Given the description of an element on the screen output the (x, y) to click on. 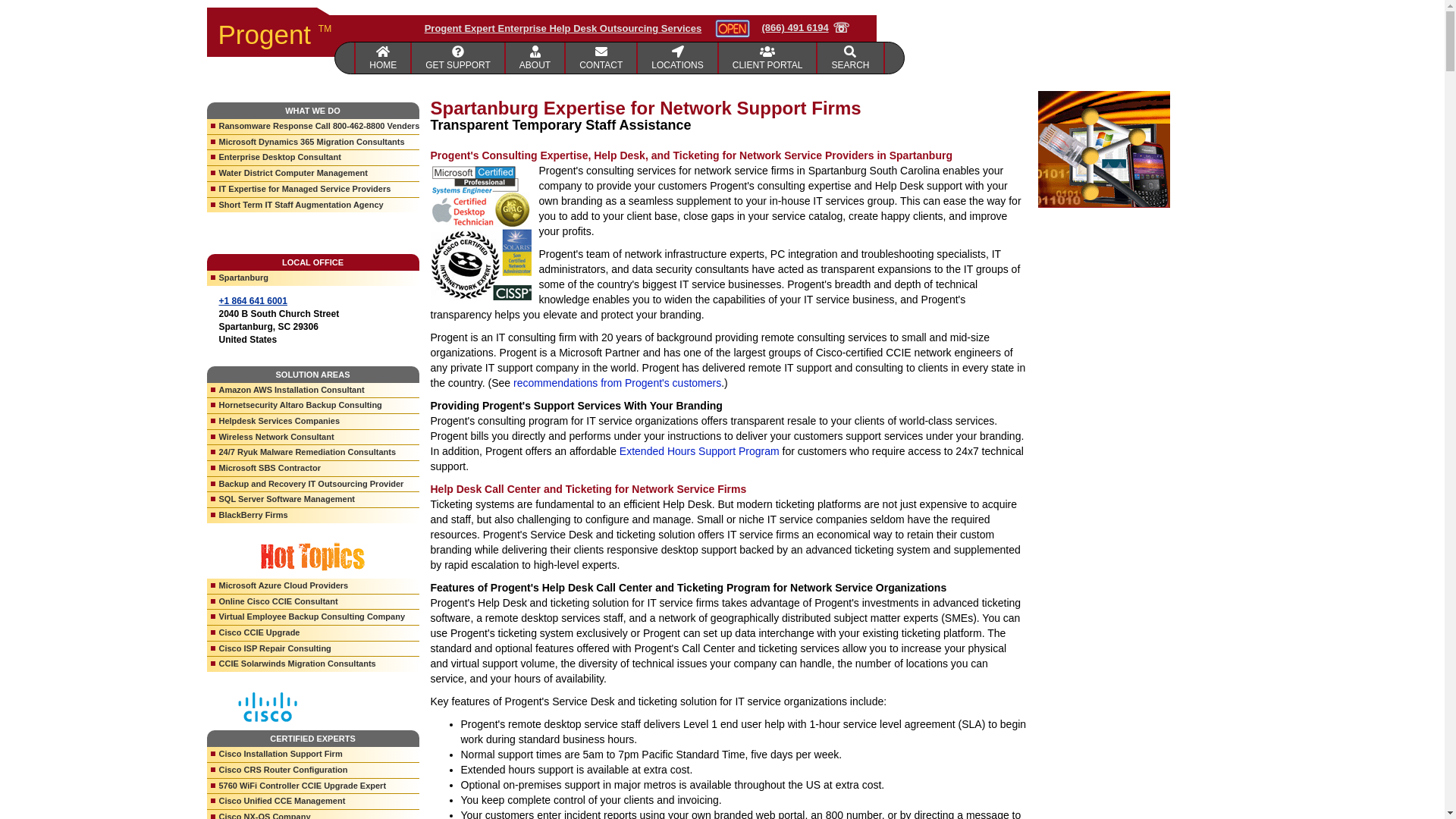
Call for Support (804, 28)
ABOUT (535, 57)
CLIENT PORTAL (768, 57)
Client Testimonials for Progent's Consulting (616, 382)
GET SUPPORT (458, 57)
Technical Support Firm Small Office (601, 57)
After-hours Online Support (699, 451)
SEARCH (849, 57)
Progent Startup Businesses Computer Tech (458, 57)
Progent Expert Enterprise Help Desk Outsourcing Services (563, 29)
LOCATIONS (677, 57)
Award Winning Support Outsourcing Small Office (535, 57)
HOME (382, 57)
Small Business Consultancy Services Group (677, 57)
CONTACT (601, 57)
